Given the description of an element on the screen output the (x, y) to click on. 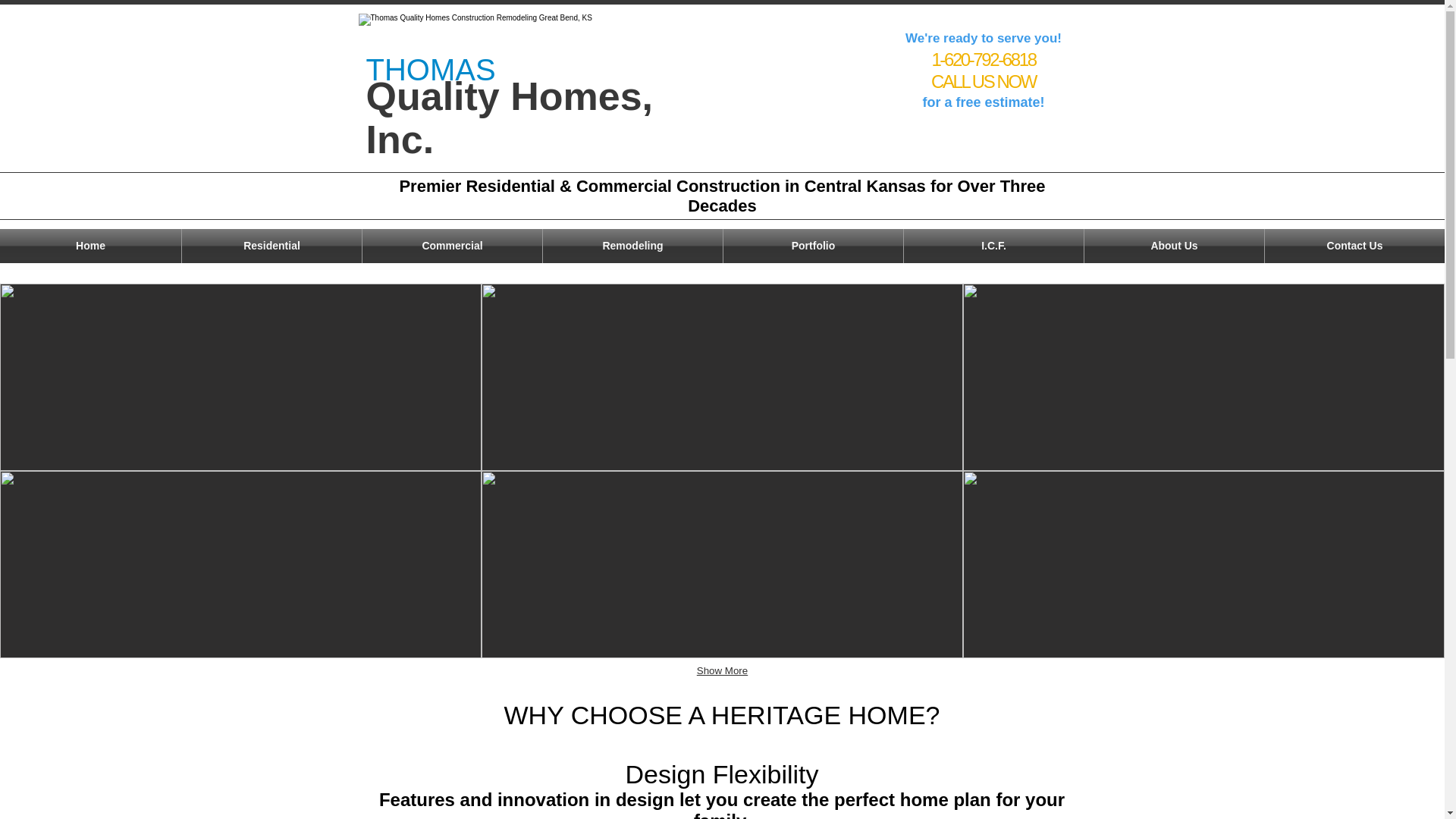
Residential (271, 245)
Commercial (451, 245)
Remodeling (632, 245)
Portfolio (812, 245)
Home (90, 245)
Show More (721, 671)
About Us (1173, 245)
I.C.F. (993, 245)
